Given the description of an element on the screen output the (x, y) to click on. 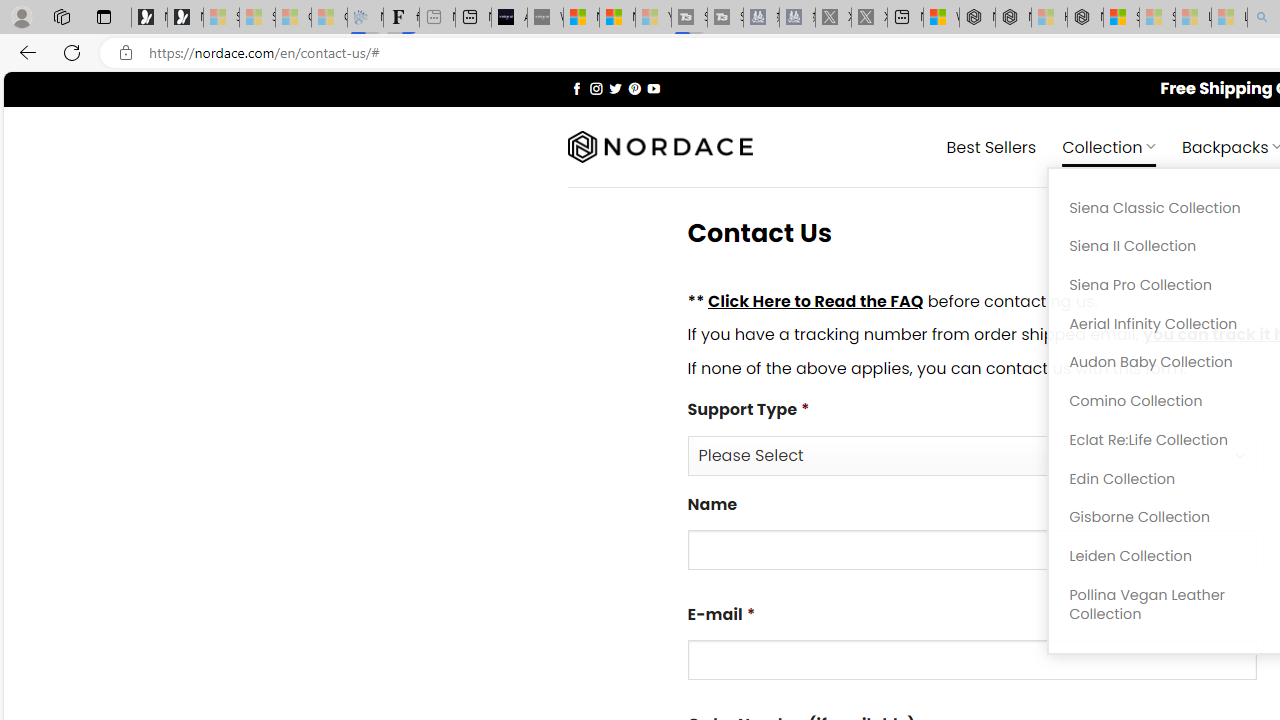
  Best Sellers (990, 146)
Name (971, 549)
Follow on Pinterest (634, 88)
AI Voice Changer for PC and Mac - Voice.ai (509, 17)
Follow on YouTube (653, 88)
